Given the description of an element on the screen output the (x, y) to click on. 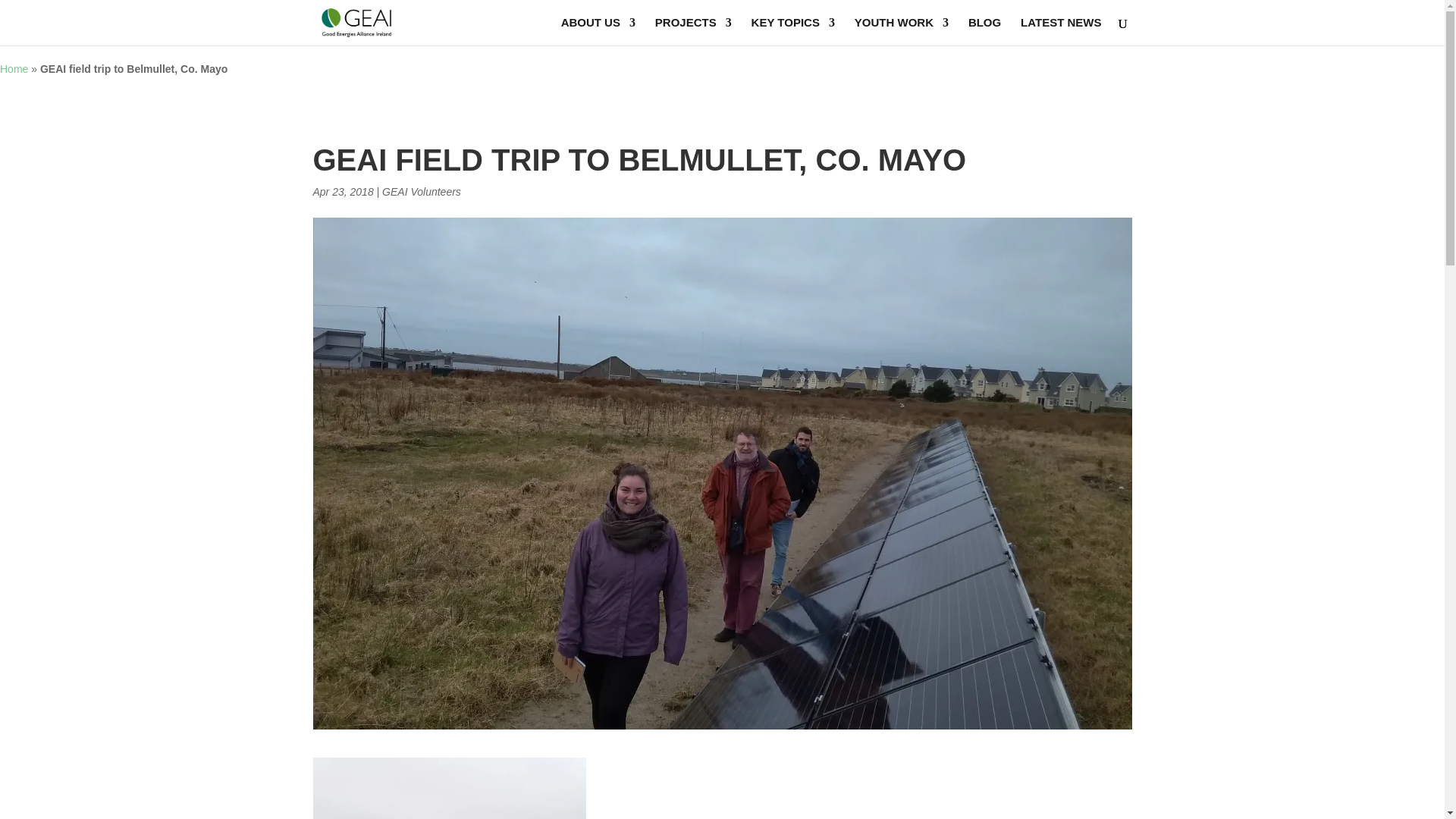
ABOUT US (597, 31)
PROJECTS (693, 31)
KEY TOPICS (792, 31)
